Given the description of an element on the screen output the (x, y) to click on. 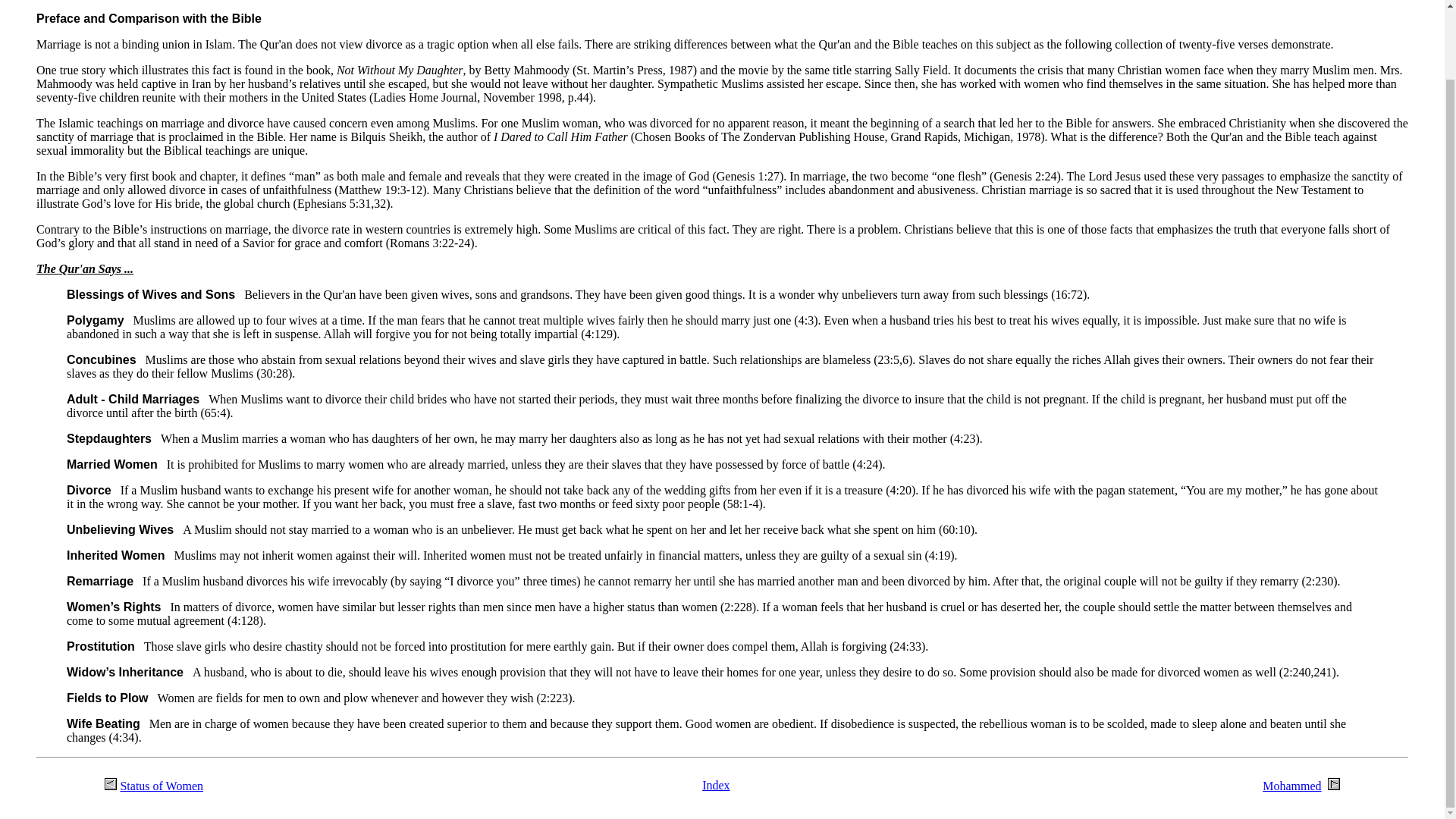
Prev (110, 784)
Status of Women (161, 785)
Next (1333, 784)
Index (715, 784)
Mohammed (1291, 785)
